Given the description of an element on the screen output the (x, y) to click on. 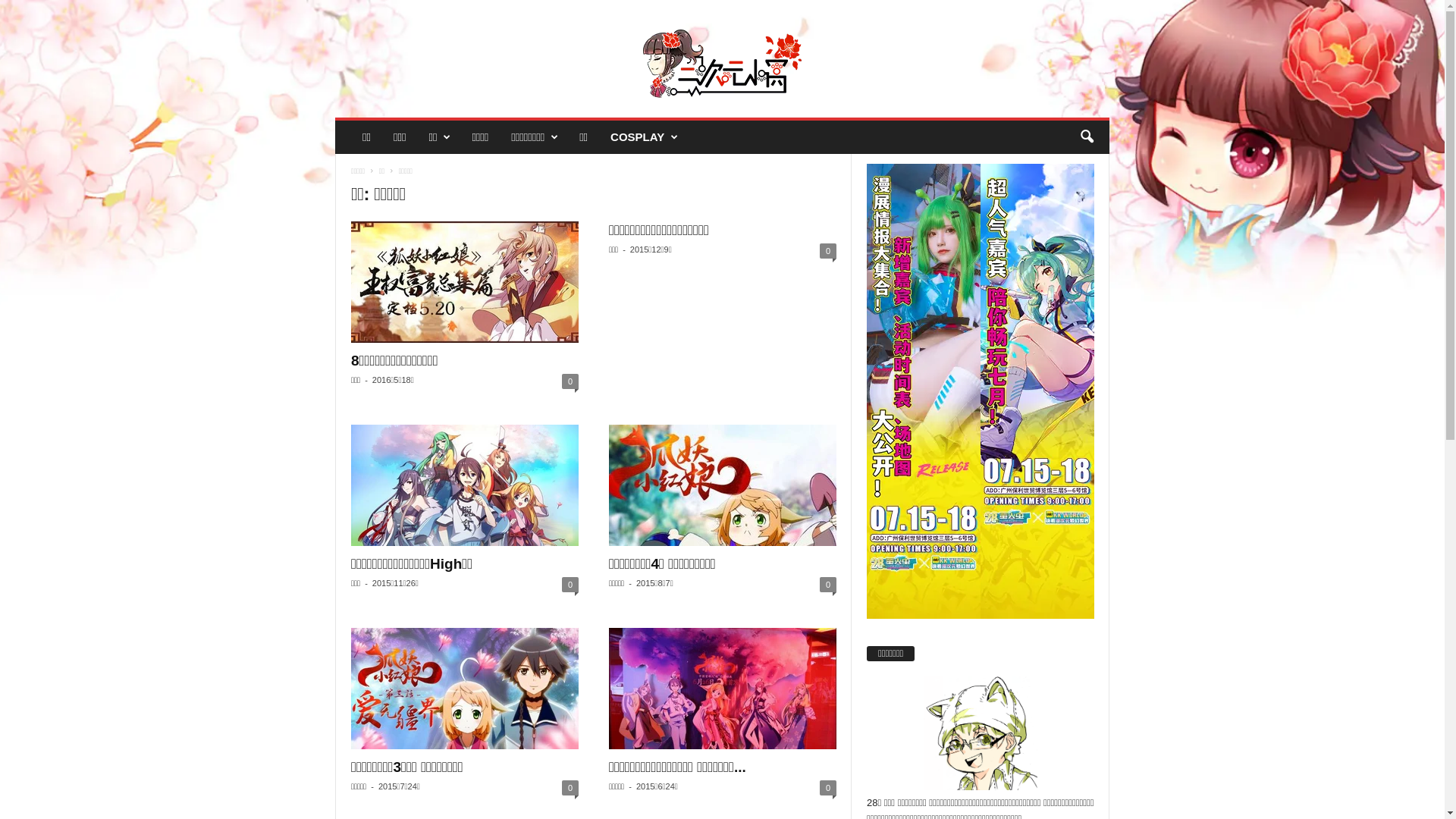
0 Element type: text (569, 787)
0 Element type: text (569, 381)
0 Element type: text (827, 250)
0 Element type: text (827, 787)
COSPLAY Element type: text (643, 136)
0 Element type: text (827, 584)
0 Element type: text (569, 584)
